Given the description of an element on the screen output the (x, y) to click on. 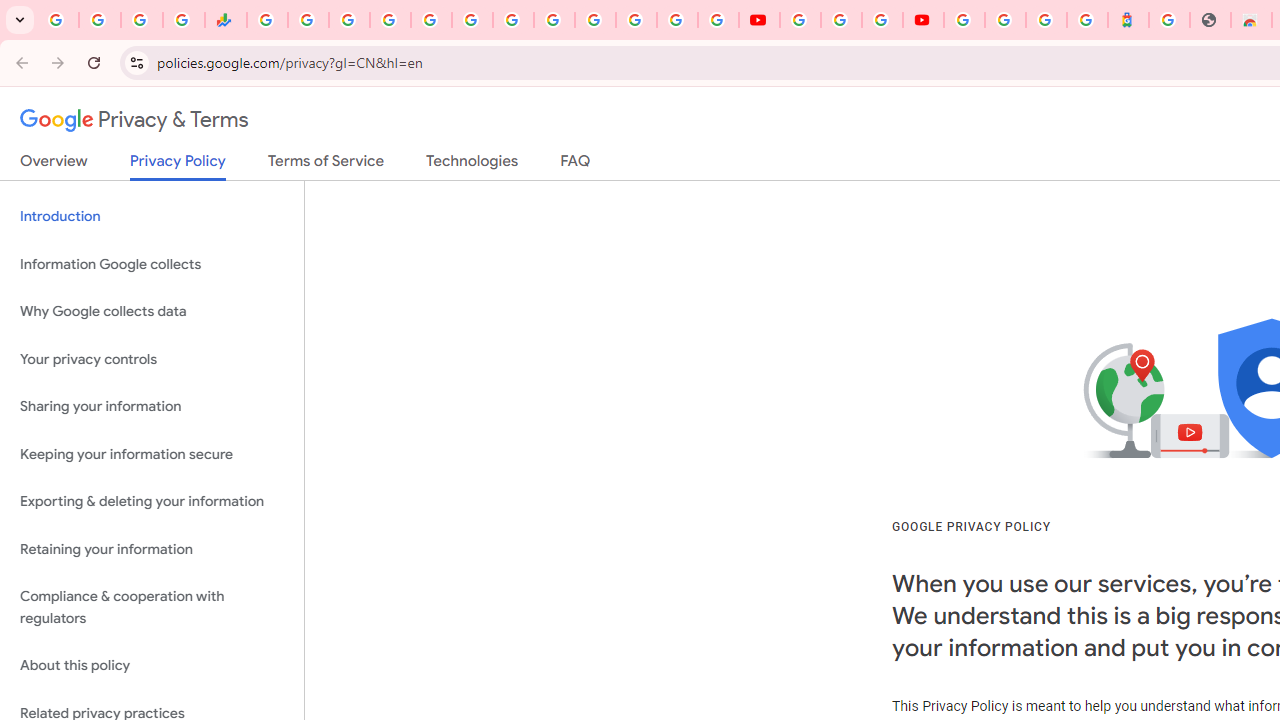
Information Google collects (152, 263)
Sign in - Google Accounts (1005, 20)
Atour Hotel - Google hotels (1128, 20)
Content Creator Programs & Opportunities - YouTube Creators (923, 20)
Google Account Help (840, 20)
Google Workspace Admin Community (58, 20)
